Given the description of an element on the screen output the (x, y) to click on. 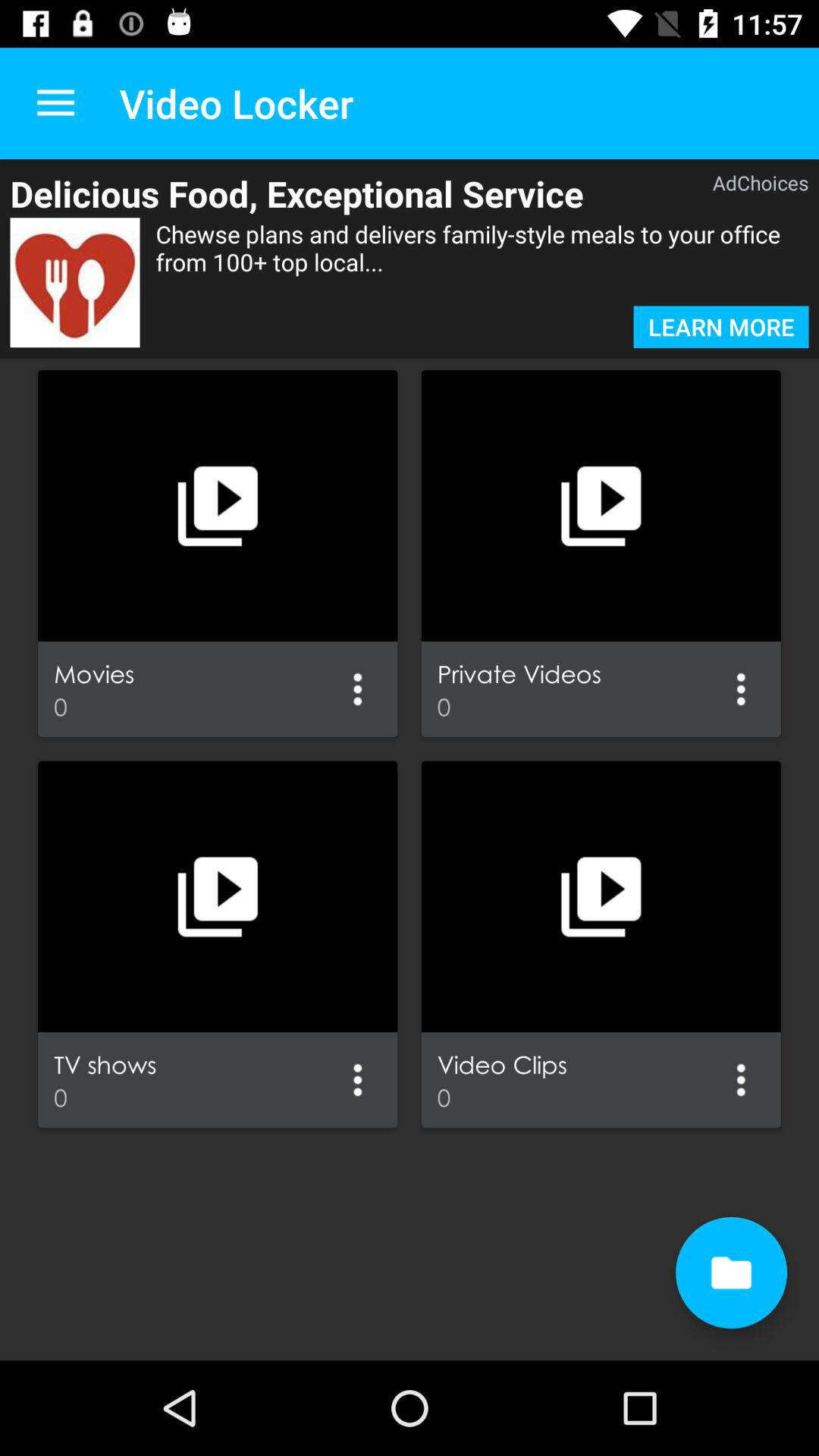
open icon below the chewse plans and (720, 326)
